Given the description of an element on the screen output the (x, y) to click on. 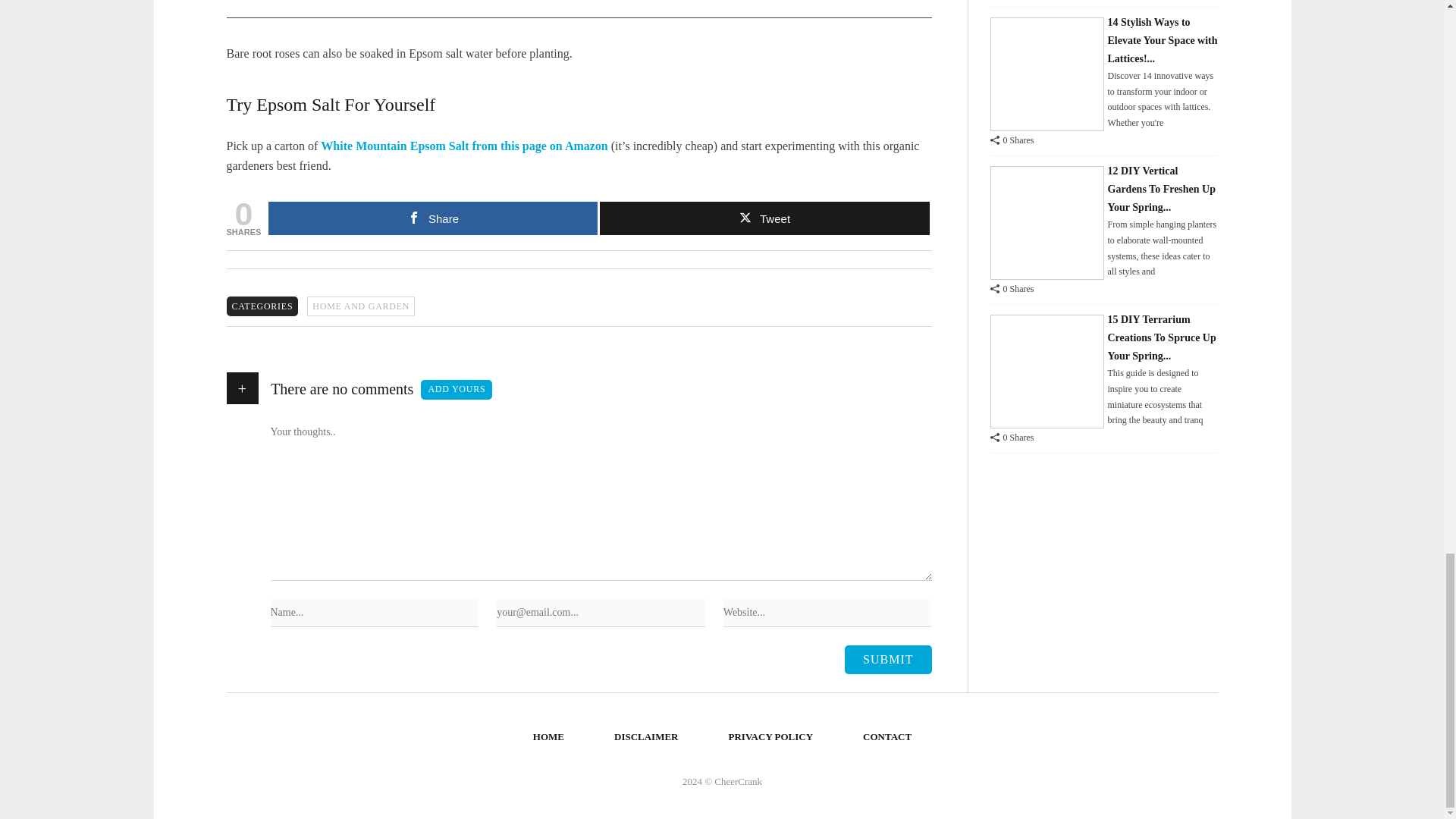
Share (431, 218)
White Mountain Epsom Salt from this page on Amazon (463, 145)
View all posts in Home and Garden (360, 306)
HOME AND GARDEN (360, 306)
ADD YOURS (456, 389)
Submit (887, 659)
Tweet (763, 218)
Submit (887, 659)
